Given the description of an element on the screen output the (x, y) to click on. 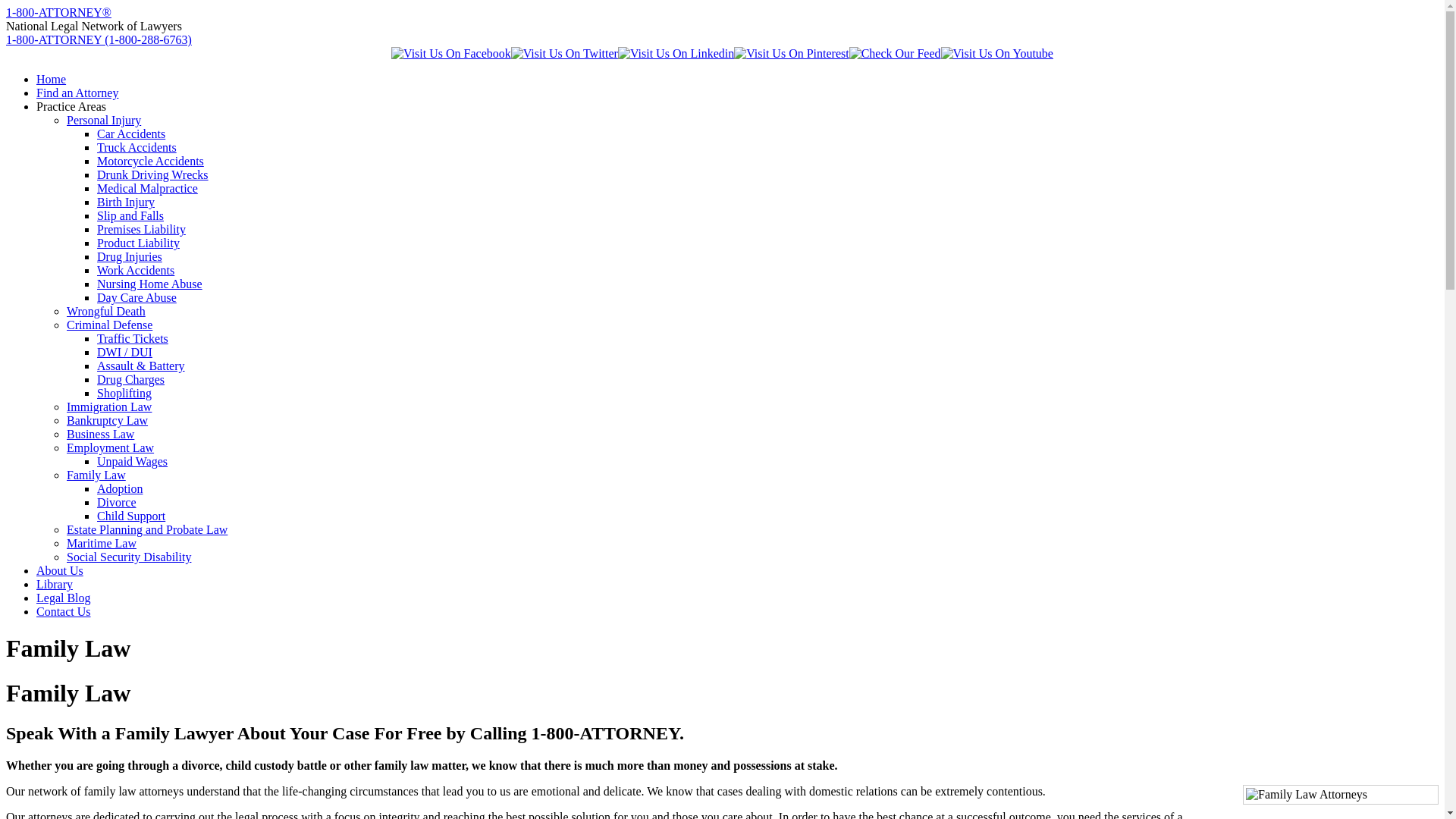
Personal Injury Element type: text (103, 119)
Motorcycle Accidents Element type: text (150, 160)
Medical Malpractice Element type: text (147, 188)
Premises Liability Element type: text (141, 228)
Traffic Tickets Element type: text (132, 338)
Estate Planning and Probate Law Element type: text (146, 529)
Criminal Defense Element type: text (109, 324)
Truck Accidents Element type: text (136, 147)
1-800-ATTORNEY (1-800-288-6763) Element type: text (98, 39)
Employment Law Element type: text (109, 447)
Drug Injuries Element type: text (129, 256)
Library Element type: text (54, 583)
DWI / DUI Element type: text (124, 351)
Assault & Battery Element type: text (141, 365)
Shoplifting Element type: text (124, 392)
Legal Blog Element type: text (63, 597)
Divorce Element type: text (116, 501)
Visit Us On Twitter Element type: hover (564, 53)
Adoption Element type: text (119, 488)
Practice Areas Element type: text (71, 106)
Work Accidents Element type: text (135, 269)
Day Care Abuse Element type: text (136, 297)
Business Law Element type: text (100, 433)
Drug Charges Element type: text (130, 379)
Nursing Home Abuse Element type: text (149, 283)
Find an Attorney Element type: text (77, 92)
Family Law Element type: text (95, 474)
Slip and Falls Element type: text (130, 215)
Immigration Law Element type: text (108, 406)
Visit Us On Linkedin Element type: hover (676, 53)
Visit Us On Pinterest Element type: hover (791, 53)
Product Liability Element type: text (138, 242)
Check Our Feed Element type: hover (895, 53)
Child Support Element type: text (131, 515)
Bankruptcy Law Element type: text (106, 420)
Visit Us On Youtube Element type: hover (997, 53)
About Us Element type: text (59, 570)
Car Accidents Element type: text (131, 133)
Maritime Law Element type: text (101, 542)
Wrongful Death Element type: text (105, 310)
Social Security Disability Element type: text (128, 556)
Visit Us On Facebook Element type: hover (451, 53)
Home Element type: text (50, 78)
Contact Us Element type: text (63, 611)
Unpaid Wages Element type: text (132, 461)
Birth Injury Element type: text (125, 201)
Drunk Driving Wrecks Element type: text (152, 174)
